Given the description of an element on the screen output the (x, y) to click on. 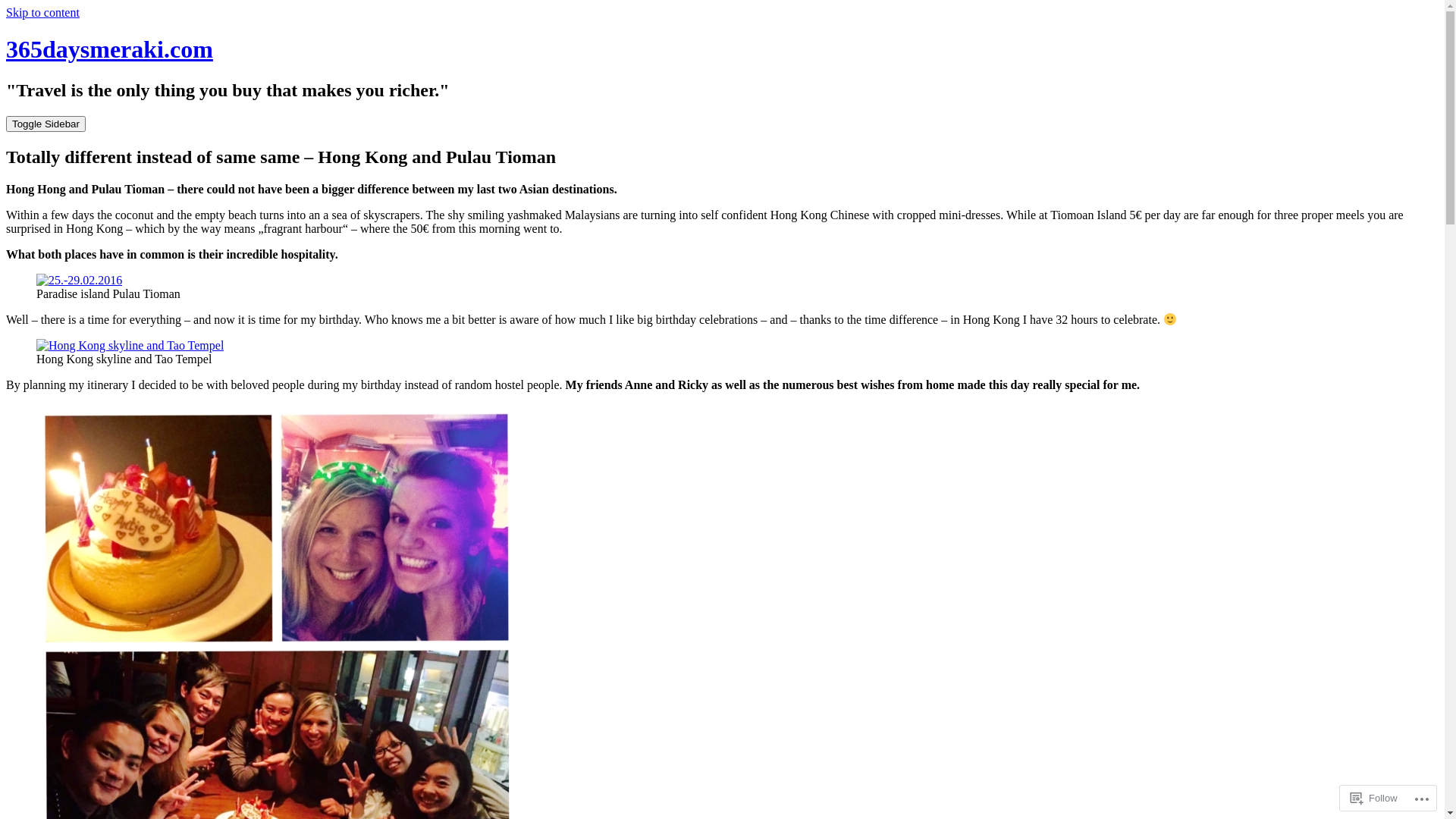
365daysmeraki.com Element type: text (109, 48)
Skip to content Element type: text (42, 12)
Follow Element type: text (1373, 797)
Toggle Sidebar Element type: text (45, 123)
